Given the description of an element on the screen output the (x, y) to click on. 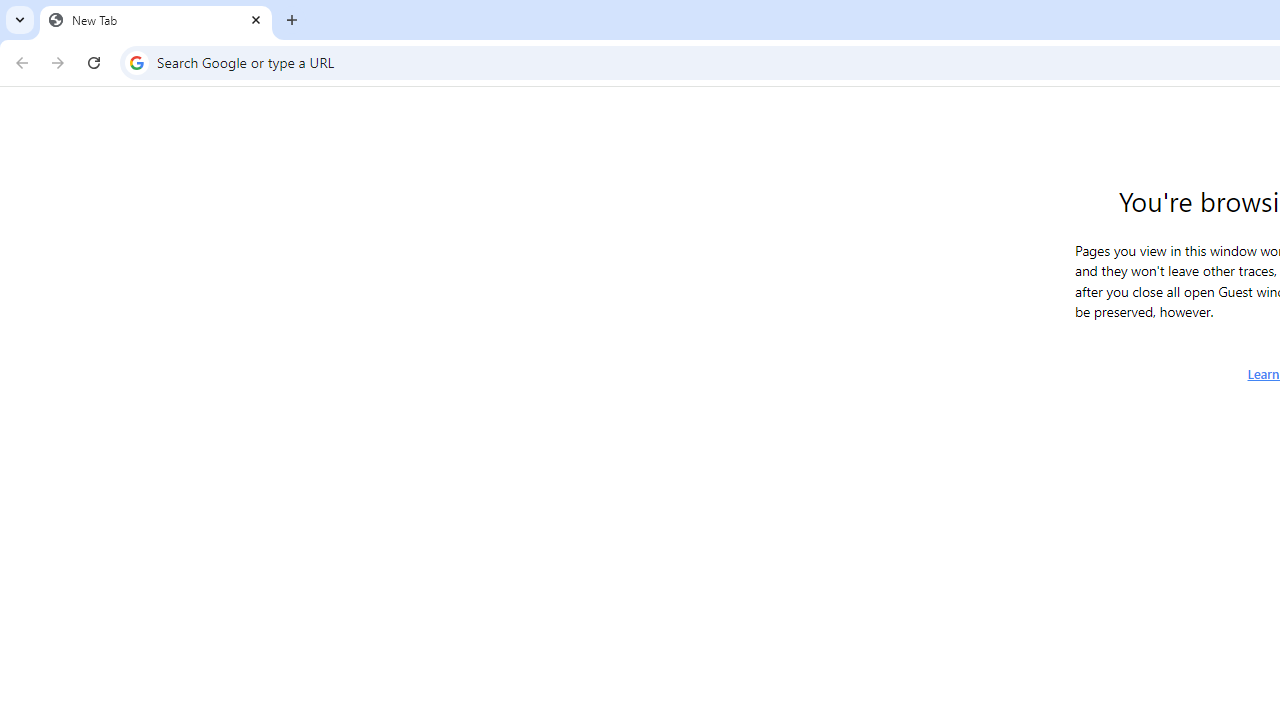
Search icon (136, 62)
New Tab (156, 20)
